Given the description of an element on the screen output the (x, y) to click on. 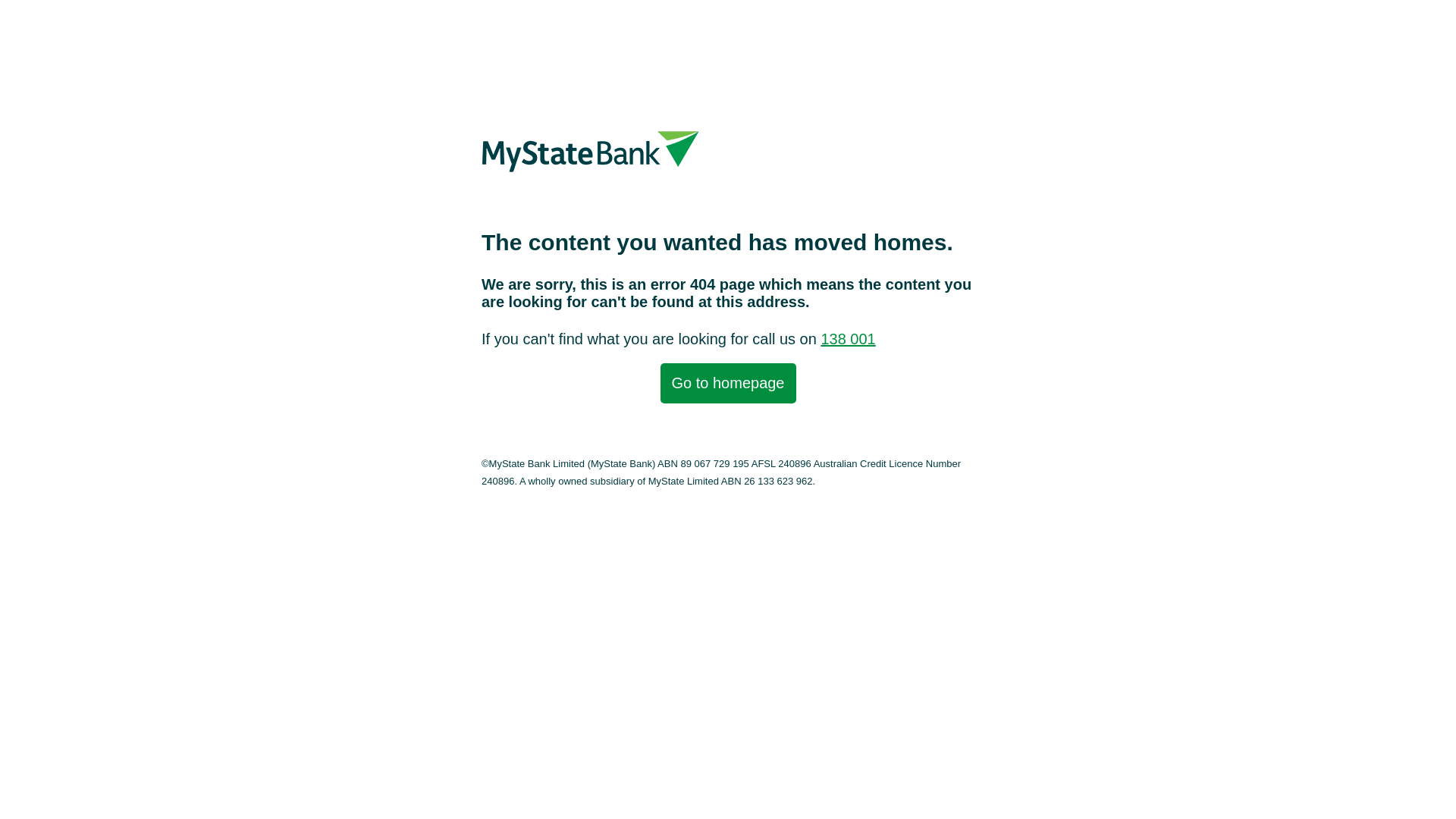
138 001 Element type: text (847, 338)
Go to homepage Element type: text (727, 383)
